Given the description of an element on the screen output the (x, y) to click on. 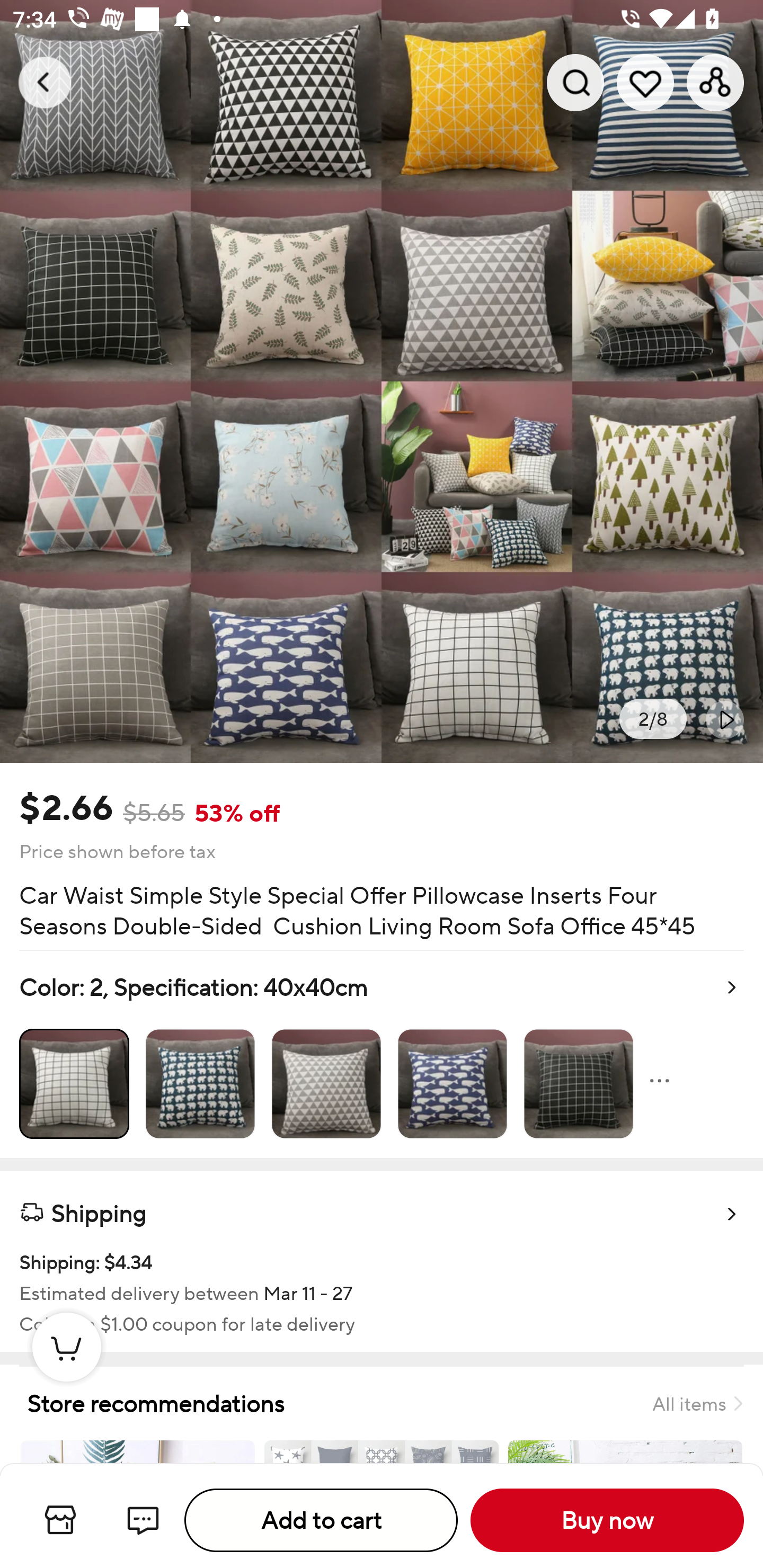
Navigate up (44, 82)
 (724, 719)
Color: 2, Specification: 40x40cm  (381, 1054)
All items (697, 1403)
Add to cart (320, 1520)
Buy now (606, 1520)
